Given the description of an element on the screen output the (x, y) to click on. 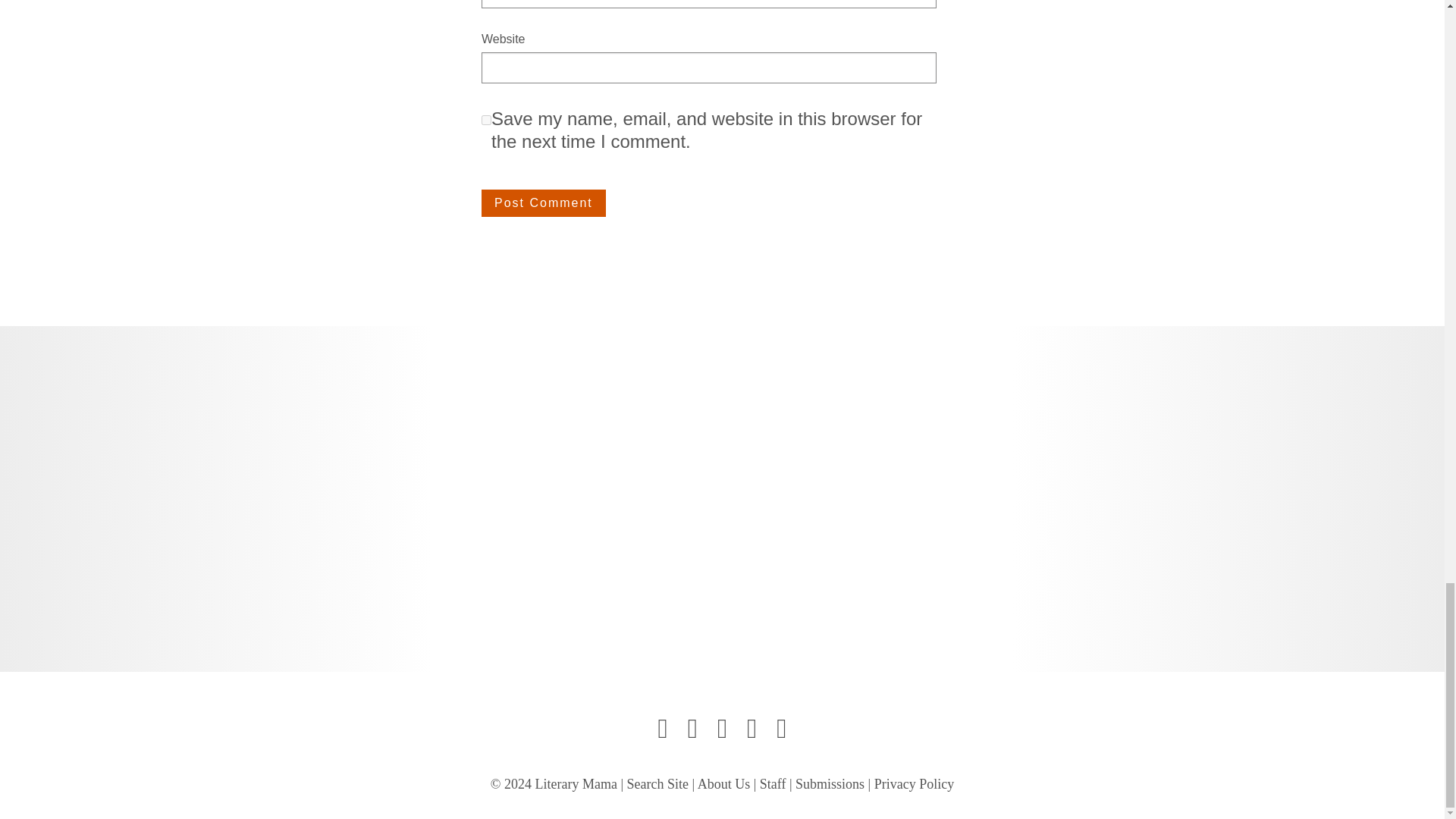
Staff (773, 783)
Post Comment (543, 203)
yes (486, 120)
Search Site (657, 783)
About Us (724, 783)
Post Comment (543, 203)
